Given the description of an element on the screen output the (x, y) to click on. 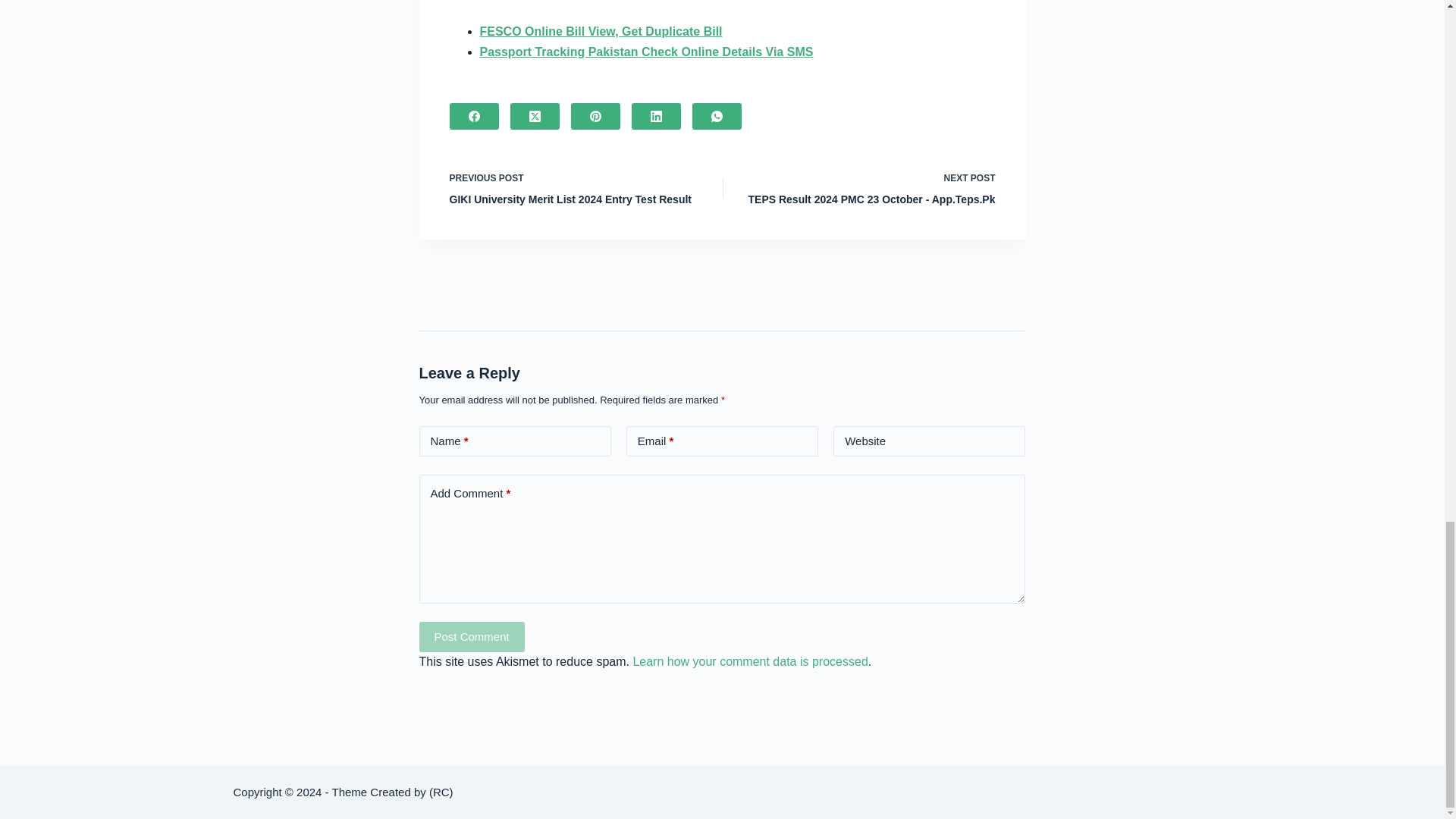
Learn how your comment data is processed (749, 661)
FESCO Online Bill View, Get Duplicate Bill (600, 31)
Post Comment (471, 636)
Passport Tracking Pakistan Check Online Details Via SMS (869, 187)
